Given the description of an element on the screen output the (x, y) to click on. 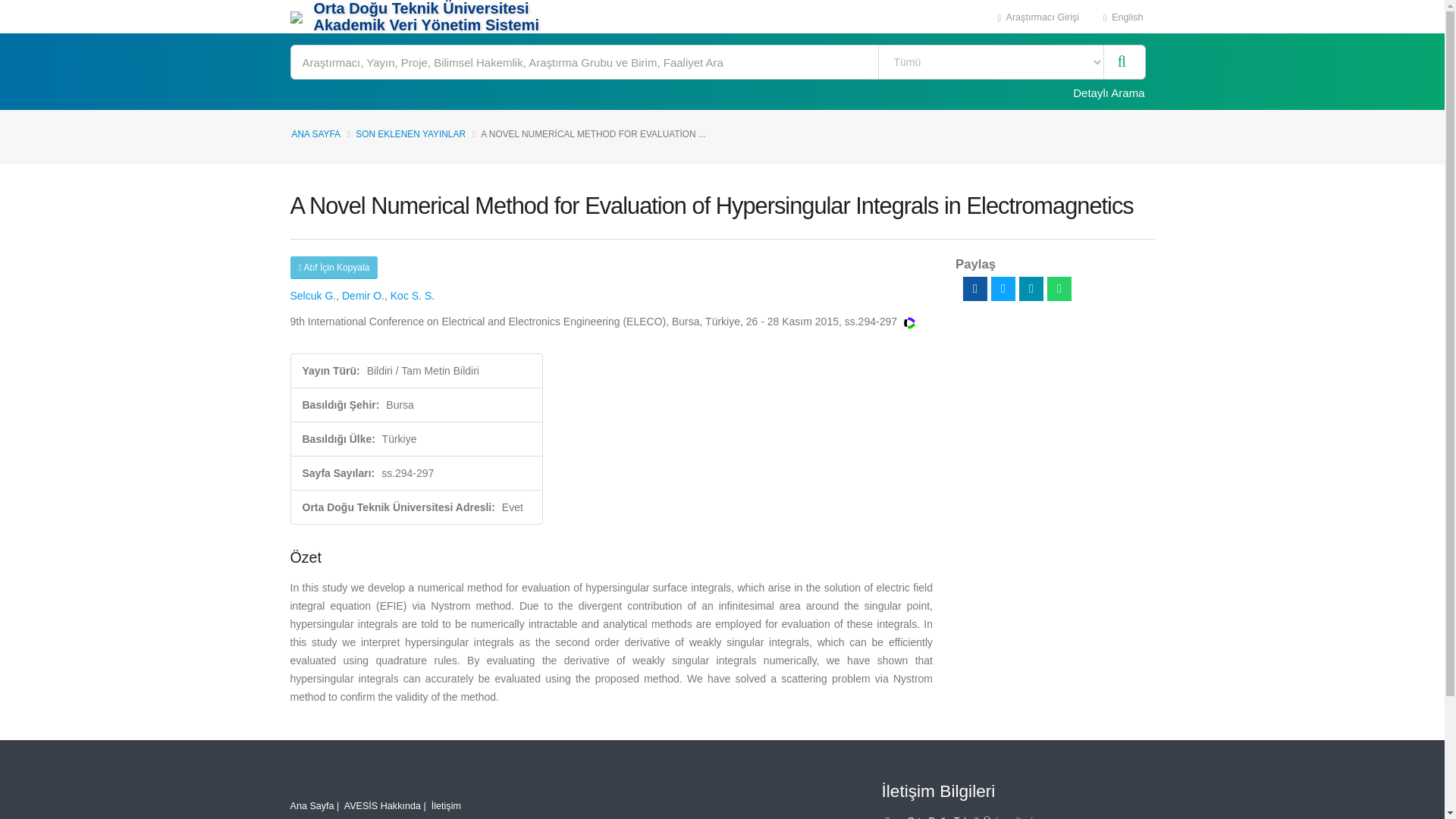
Demir O. (363, 295)
SON EKLENEN YAYINLAR (410, 133)
Koc S. S. (411, 295)
Oguz Demir (363, 295)
Gokhun Selcuk (312, 295)
Ana Sayfa (311, 805)
English (1123, 17)
Selcuk G. (312, 295)
ANA SAYFA (315, 133)
